Given the description of an element on the screen output the (x, y) to click on. 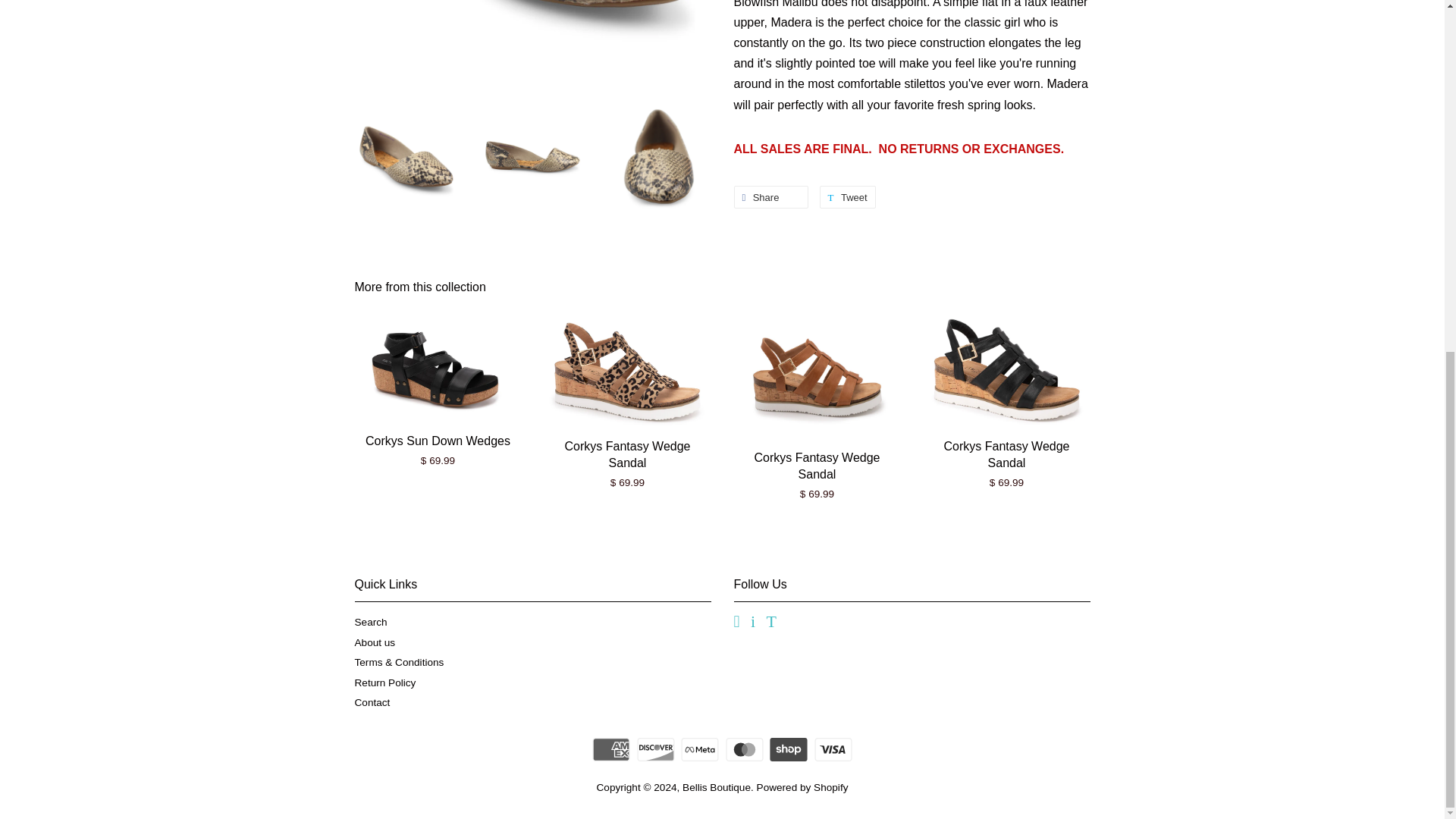
Bellis Boutique on Twitter (771, 623)
Bellis Boutique on Instagram (753, 623)
Bellis Boutique on Facebook (736, 623)
